Given the description of an element on the screen output the (x, y) to click on. 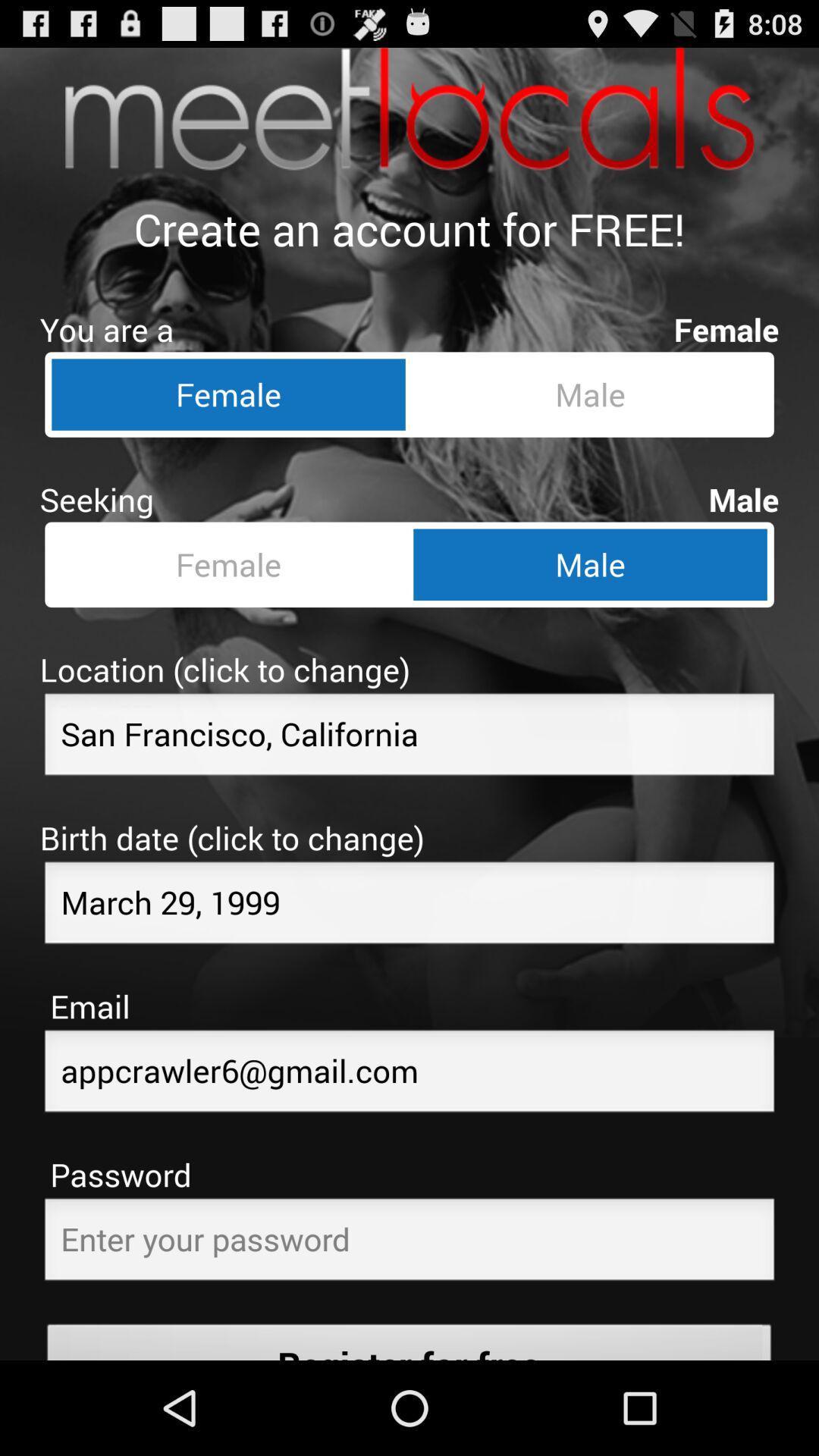
password column (409, 1243)
